Given the description of an element on the screen output the (x, y) to click on. 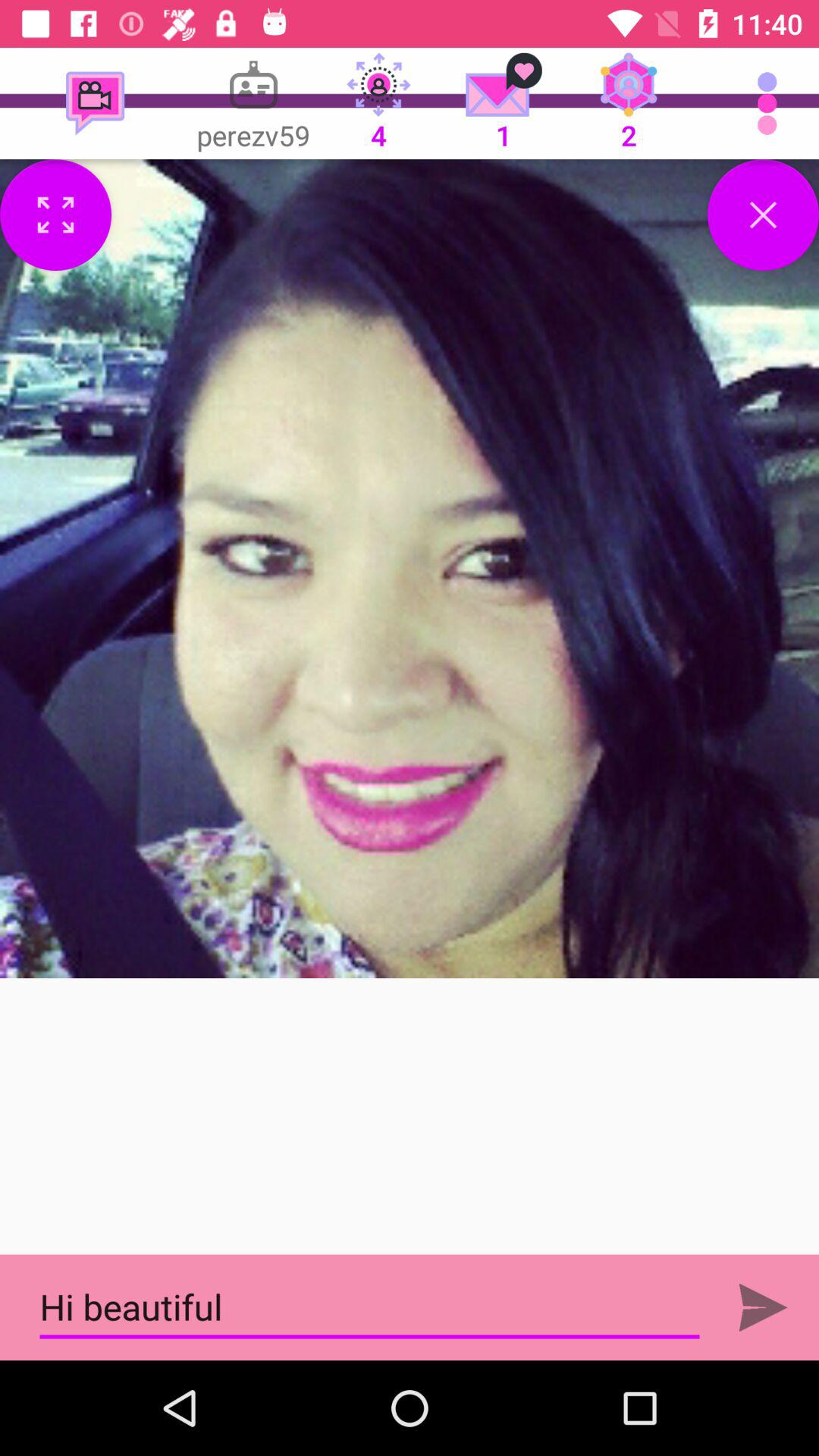
close option (763, 214)
